Given the description of an element on the screen output the (x, y) to click on. 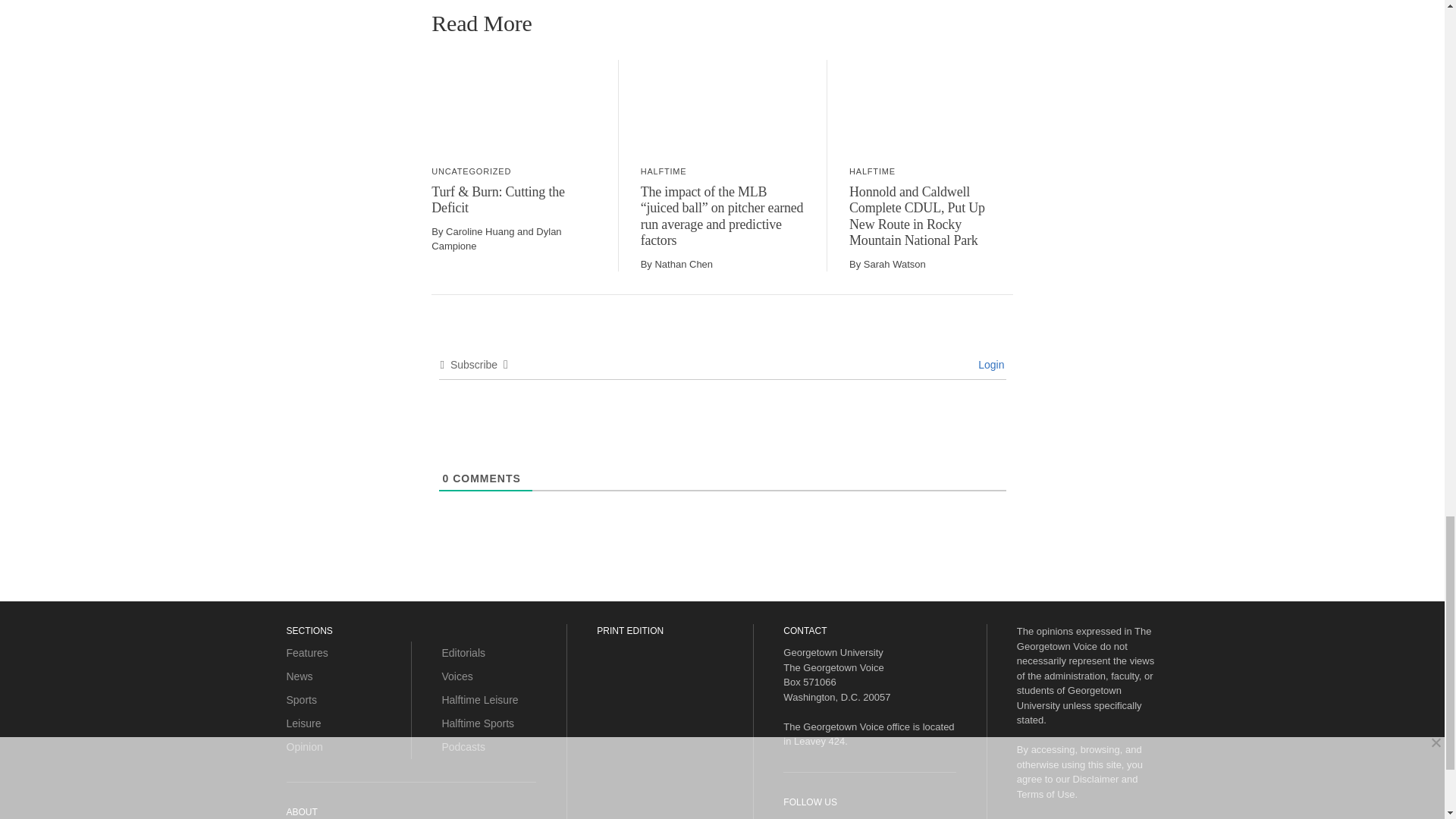
Posts by Caroline Huang (479, 231)
Posts by Dylan Campione (495, 239)
Posts by Nathan Chen (683, 264)
Posts by Sarah Watson (894, 264)
